Given the description of an element on the screen output the (x, y) to click on. 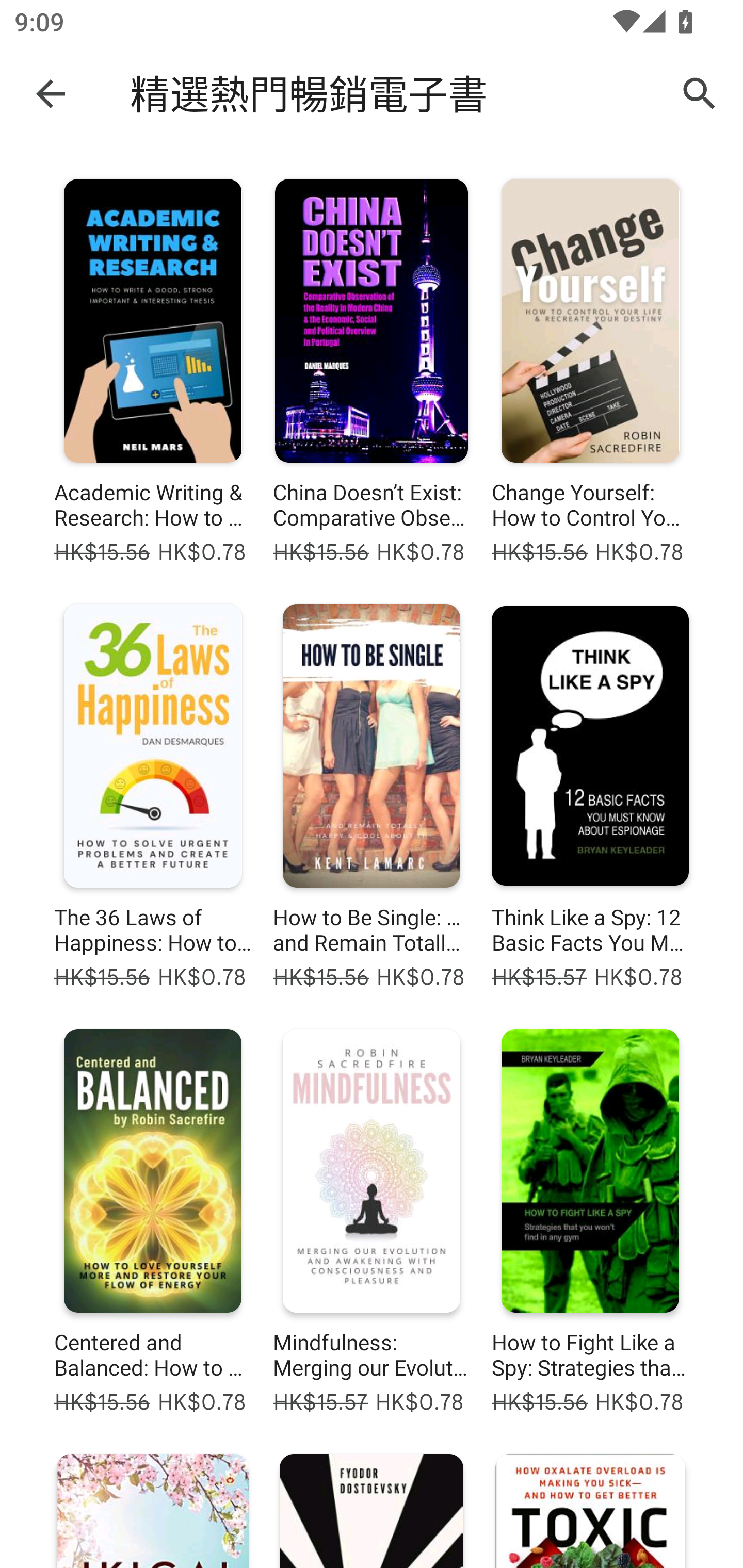
Navigate up (50, 92)
Search Google Play (699, 93)
